Given the description of an element on the screen output the (x, y) to click on. 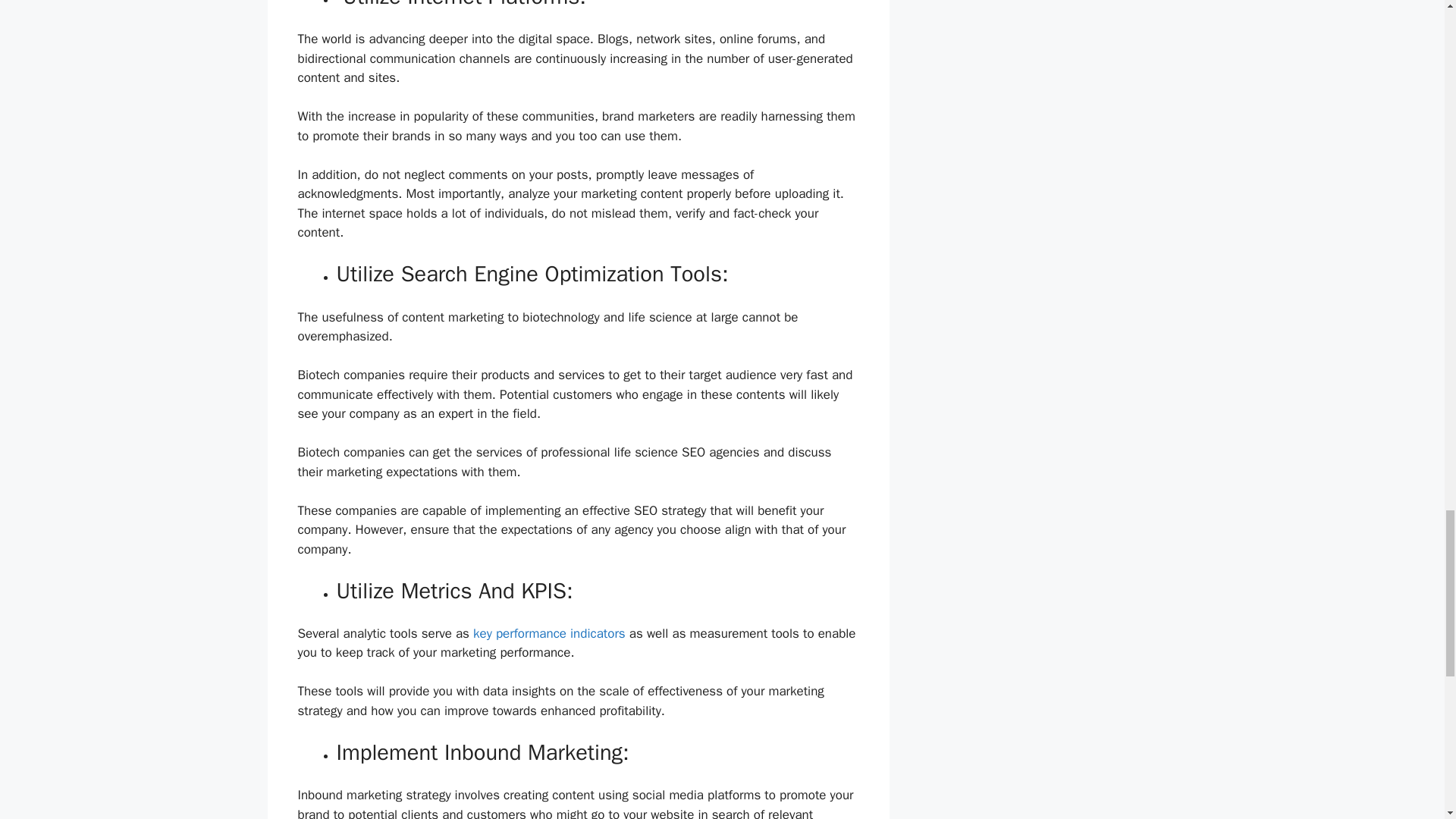
key performance indicators (549, 633)
